Given the description of an element on the screen output the (x, y) to click on. 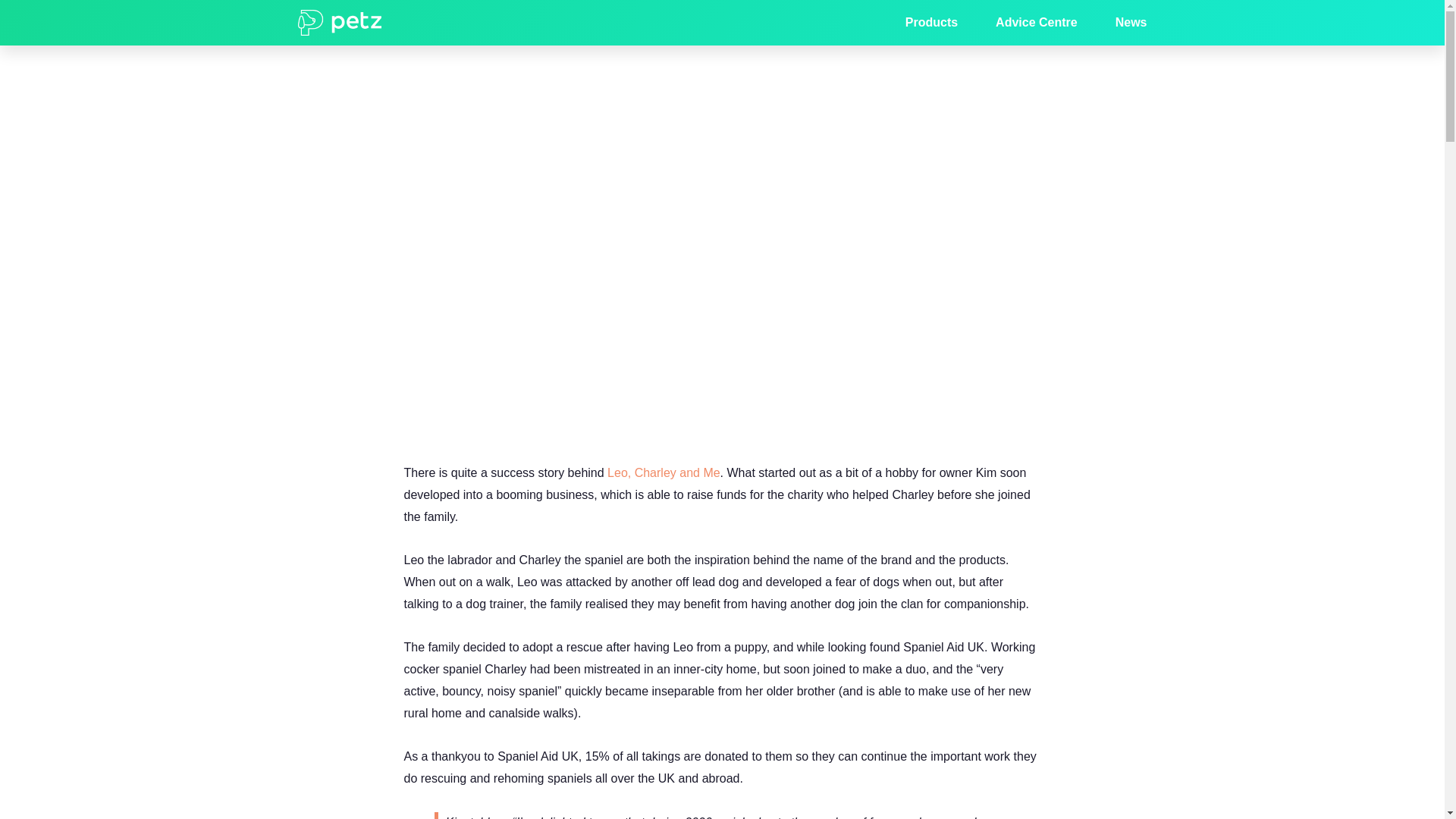
Advice Centre (1036, 22)
Products (931, 22)
Leo, Charley and Me (663, 472)
